Given the description of an element on the screen output the (x, y) to click on. 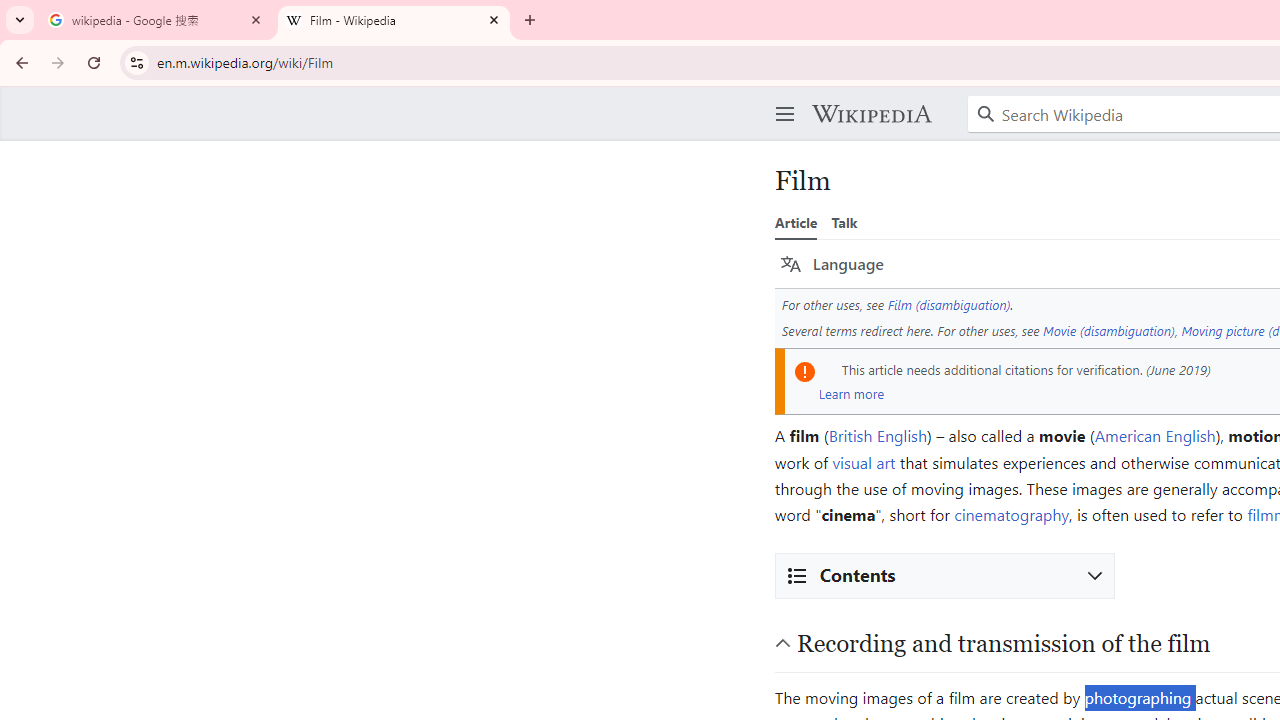
Film - Wikipedia (394, 20)
Language (832, 264)
cinematography (1011, 514)
Article (795, 222)
photographing (1137, 696)
Movie (disambiguation) (1109, 330)
Film (disambiguation) (949, 304)
AutomationID: main-menu-input (781, 98)
